Given the description of an element on the screen output the (x, y) to click on. 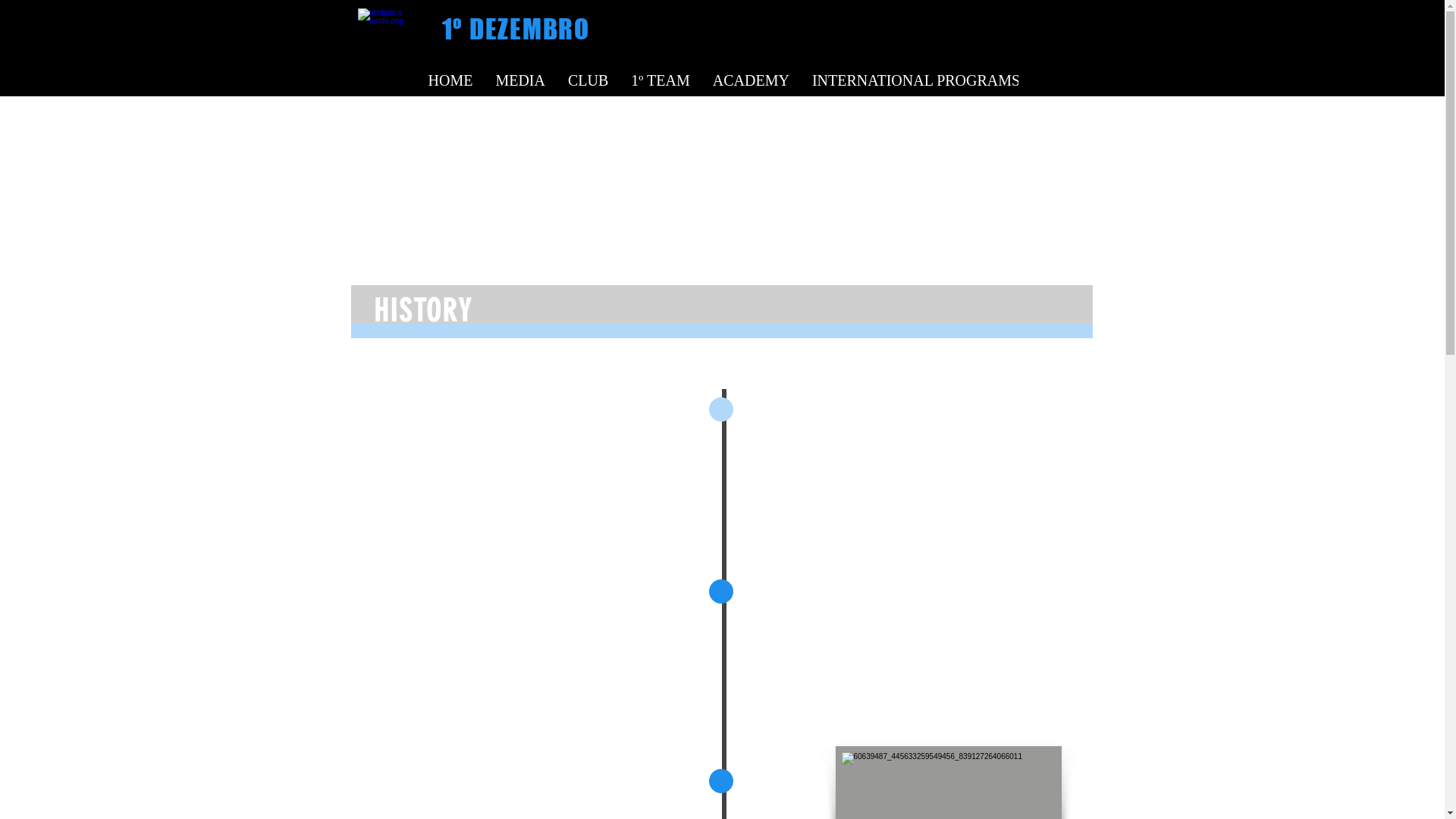
HOME Element type: text (450, 82)
HISTORY Element type: text (422, 310)
